Given the description of an element on the screen output the (x, y) to click on. 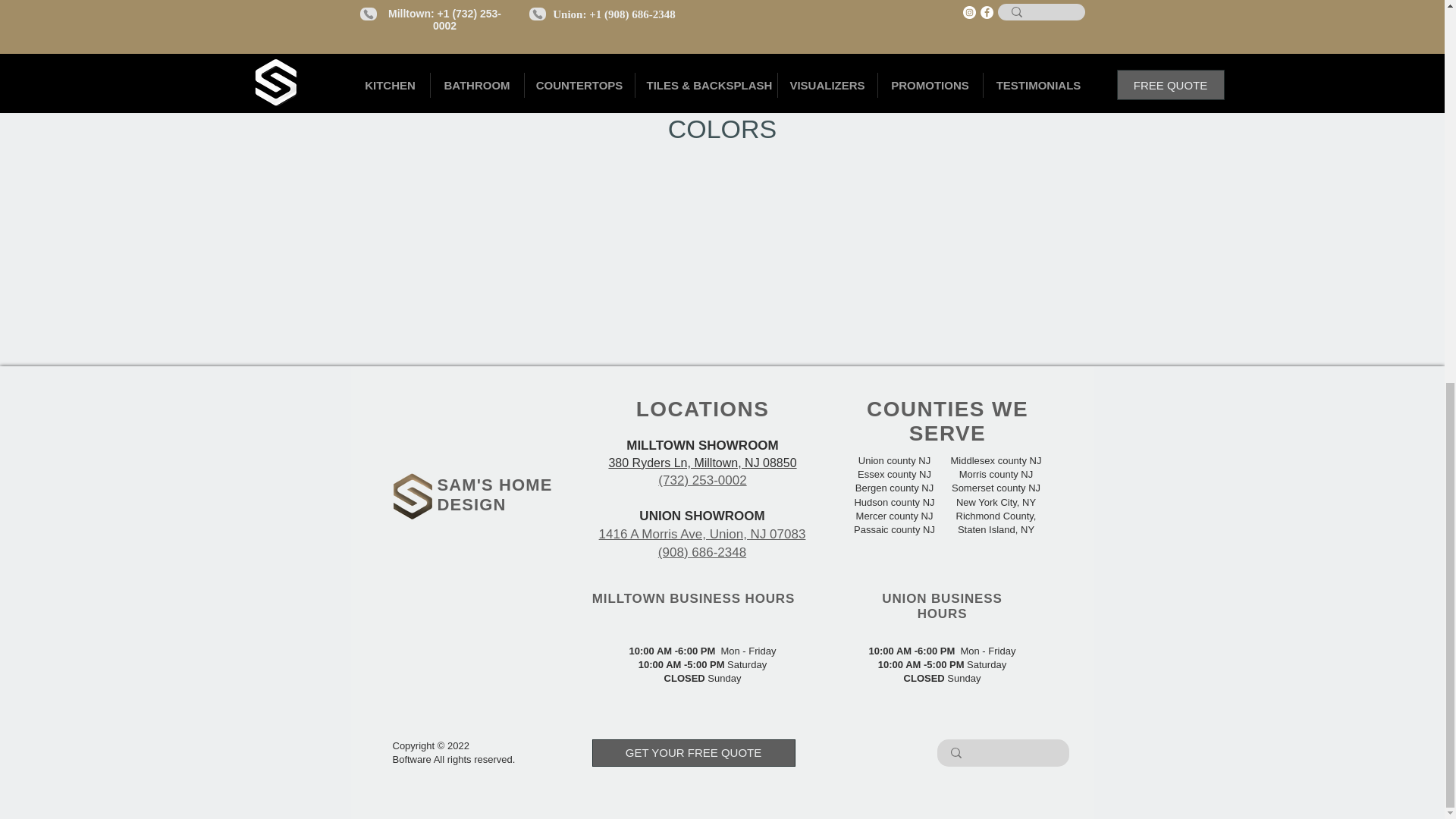
UNION SHOWROOM (701, 515)
380 Ryders Ln, Milltown, NJ 08850 (702, 462)
